Given the description of an element on the screen output the (x, y) to click on. 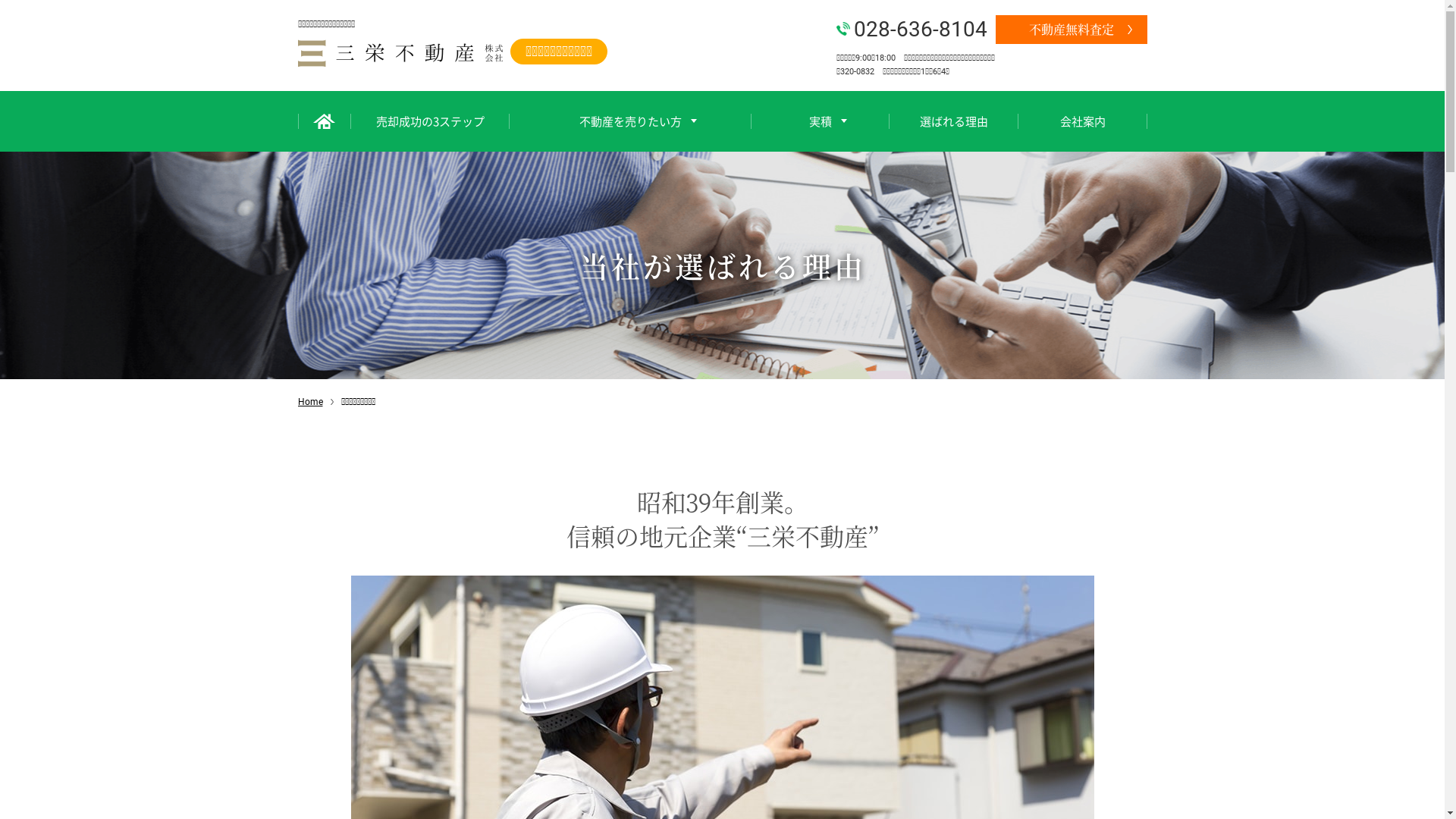
028-636-8104 Element type: text (910, 28)
Home Element type: text (309, 400)
